Given the description of an element on the screen output the (x, y) to click on. 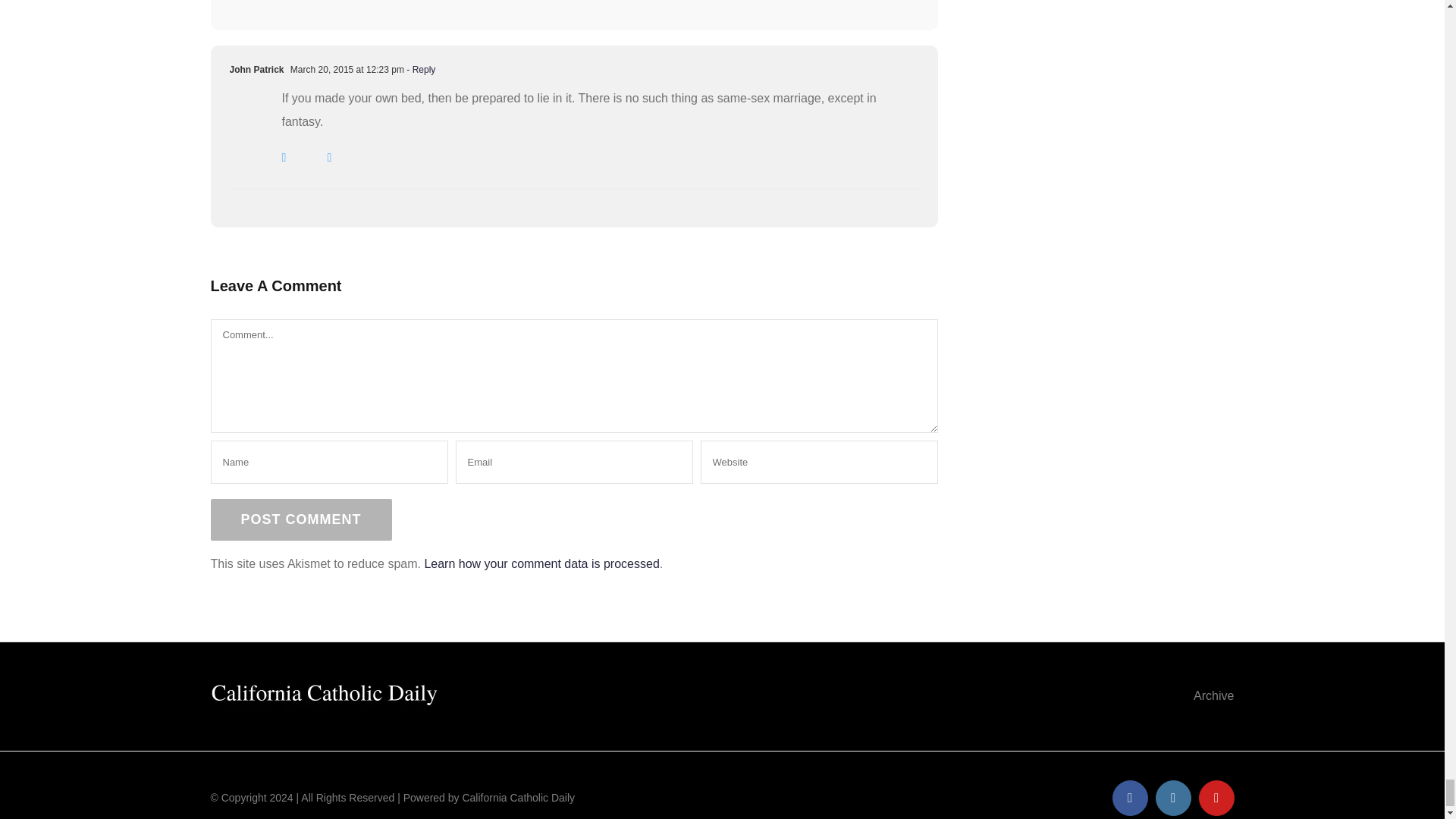
Post Comment (301, 519)
